Given the description of an element on the screen output the (x, y) to click on. 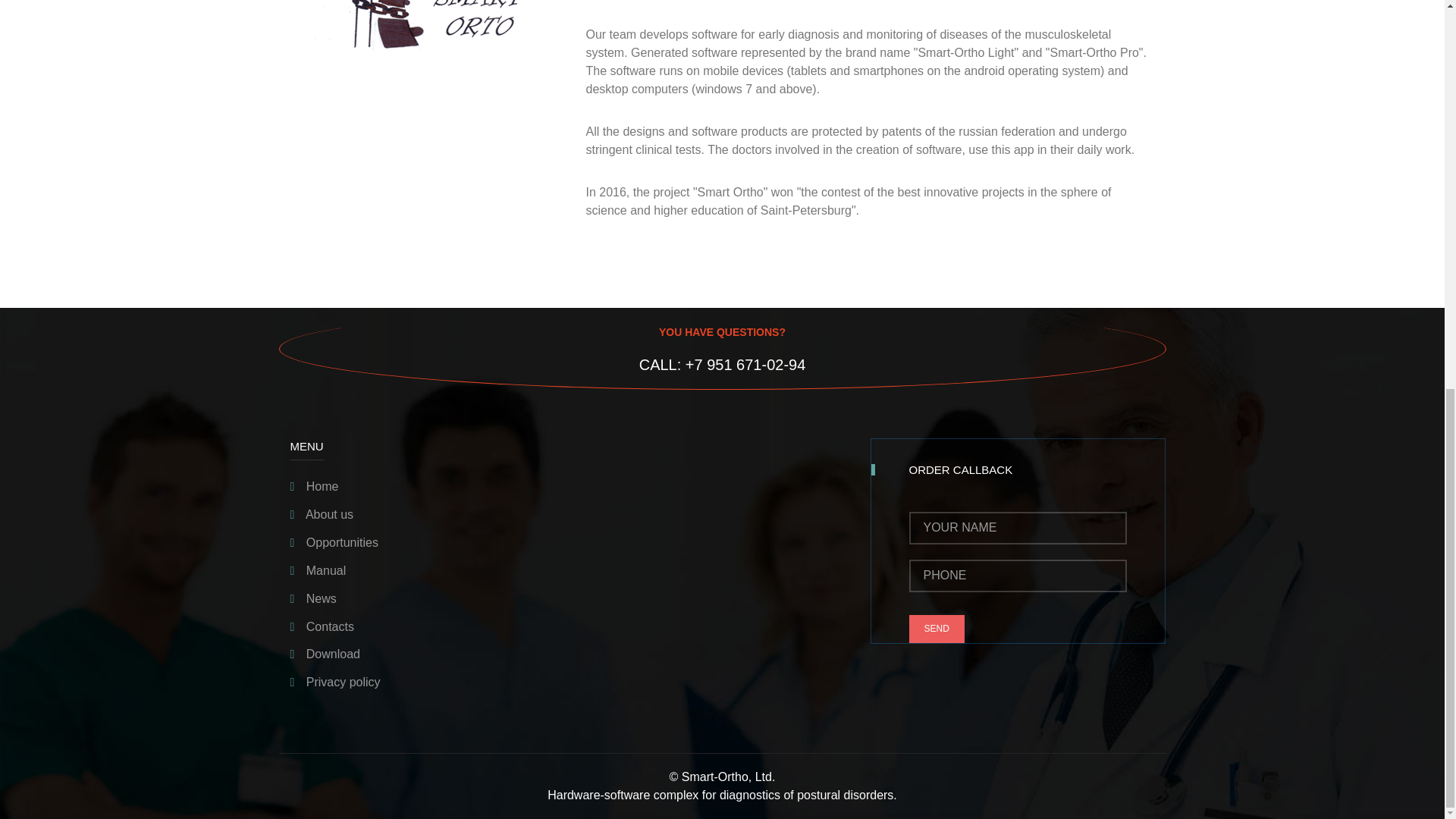
Contacts (321, 626)
News (312, 598)
About us (321, 513)
Opportunities (333, 542)
Manual (317, 570)
Privacy policy (334, 681)
SEND (935, 628)
Home (313, 486)
Download (324, 653)
SEND (935, 628)
